Given the description of an element on the screen output the (x, y) to click on. 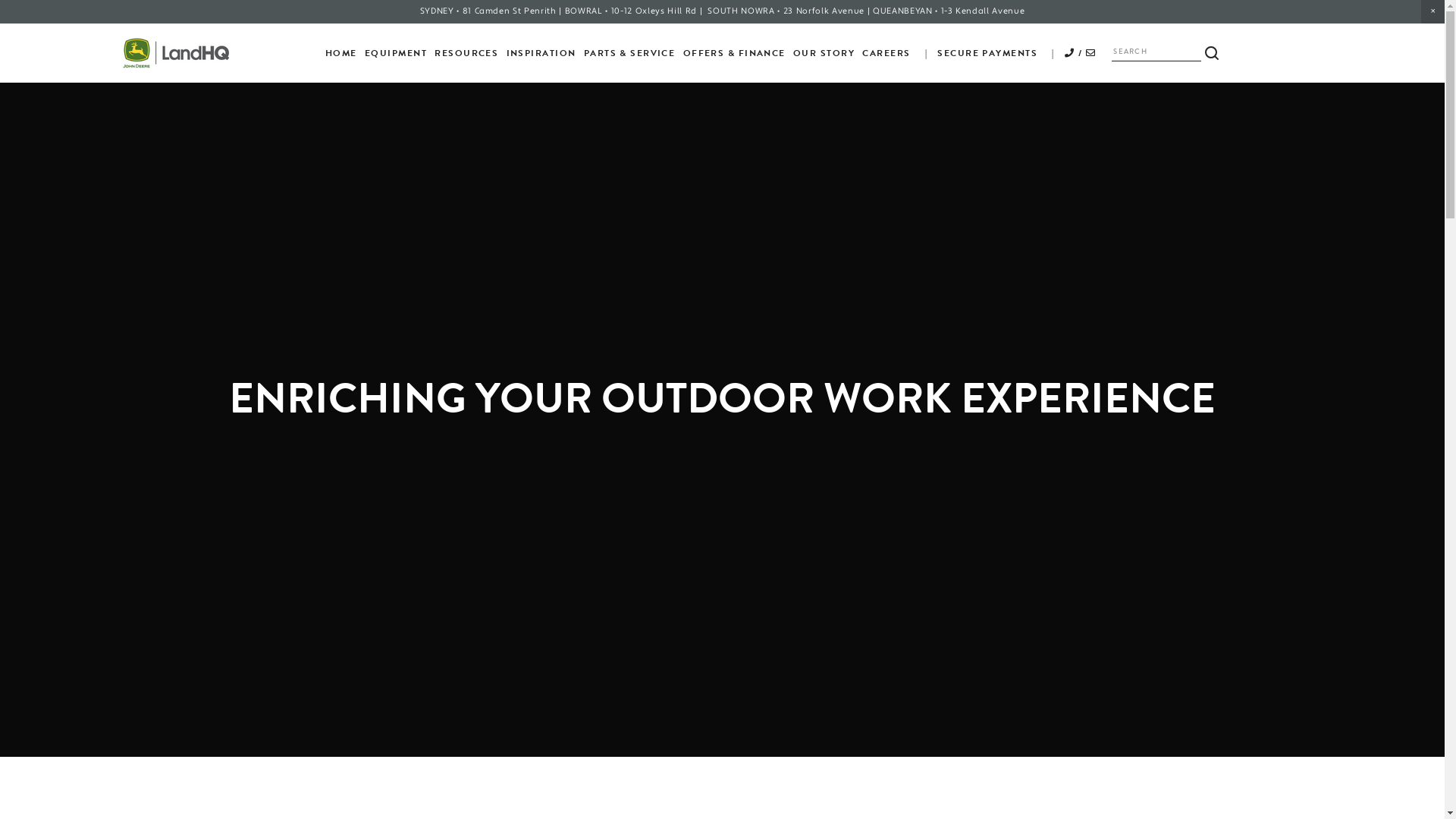
PARTS & SERVICE Element type: text (629, 52)
  |    / Element type: text (1069, 52)
EQUIPMENT Element type: text (395, 52)
OFFERS & FINANCE Element type: text (734, 52)
  |   SECURE PAYMENTS Element type: text (977, 52)
OUR STORY Element type: text (823, 52)
RESOURCES Element type: text (466, 52)
HOME Element type: text (341, 52)
CAREERS Element type: text (886, 52)
INSPIRATION Element type: text (541, 52)
